Given the description of an element on the screen output the (x, y) to click on. 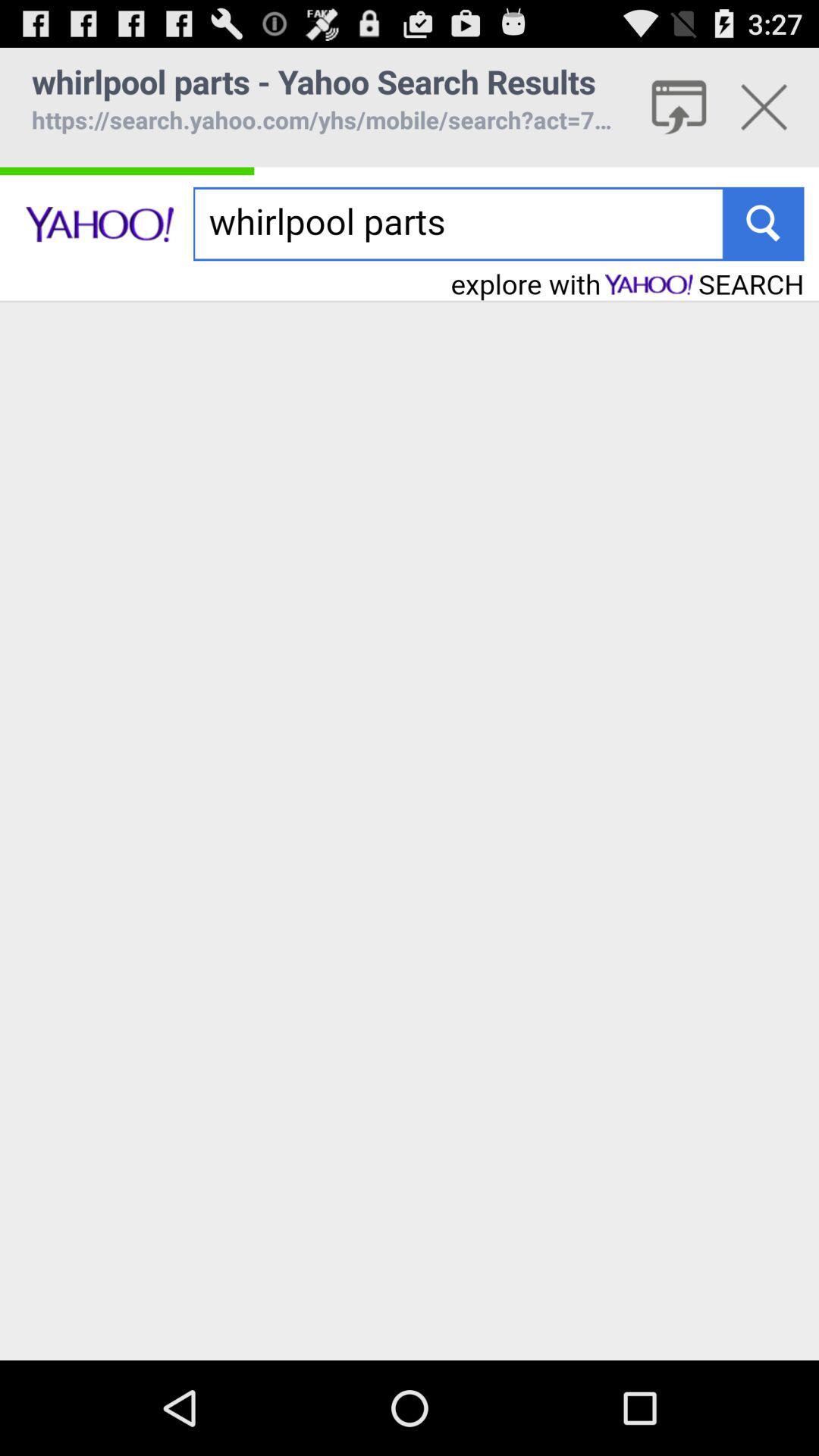
close advertisement (764, 107)
